Given the description of an element on the screen output the (x, y) to click on. 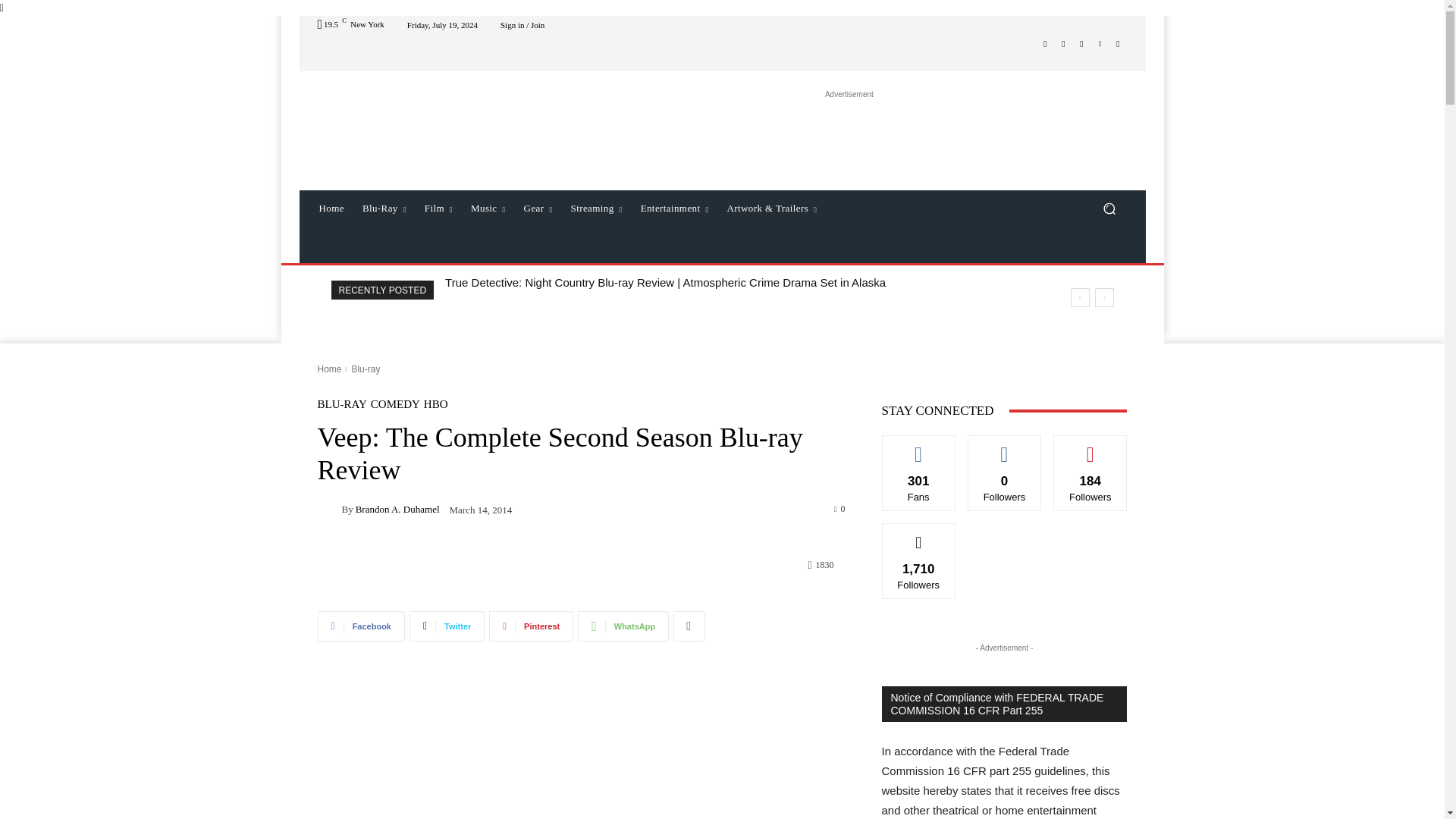
Facebook (1044, 44)
Instagram (1062, 44)
Youtube (1117, 44)
Vimeo (1099, 44)
Twitter (1080, 44)
